Given the description of an element on the screen output the (x, y) to click on. 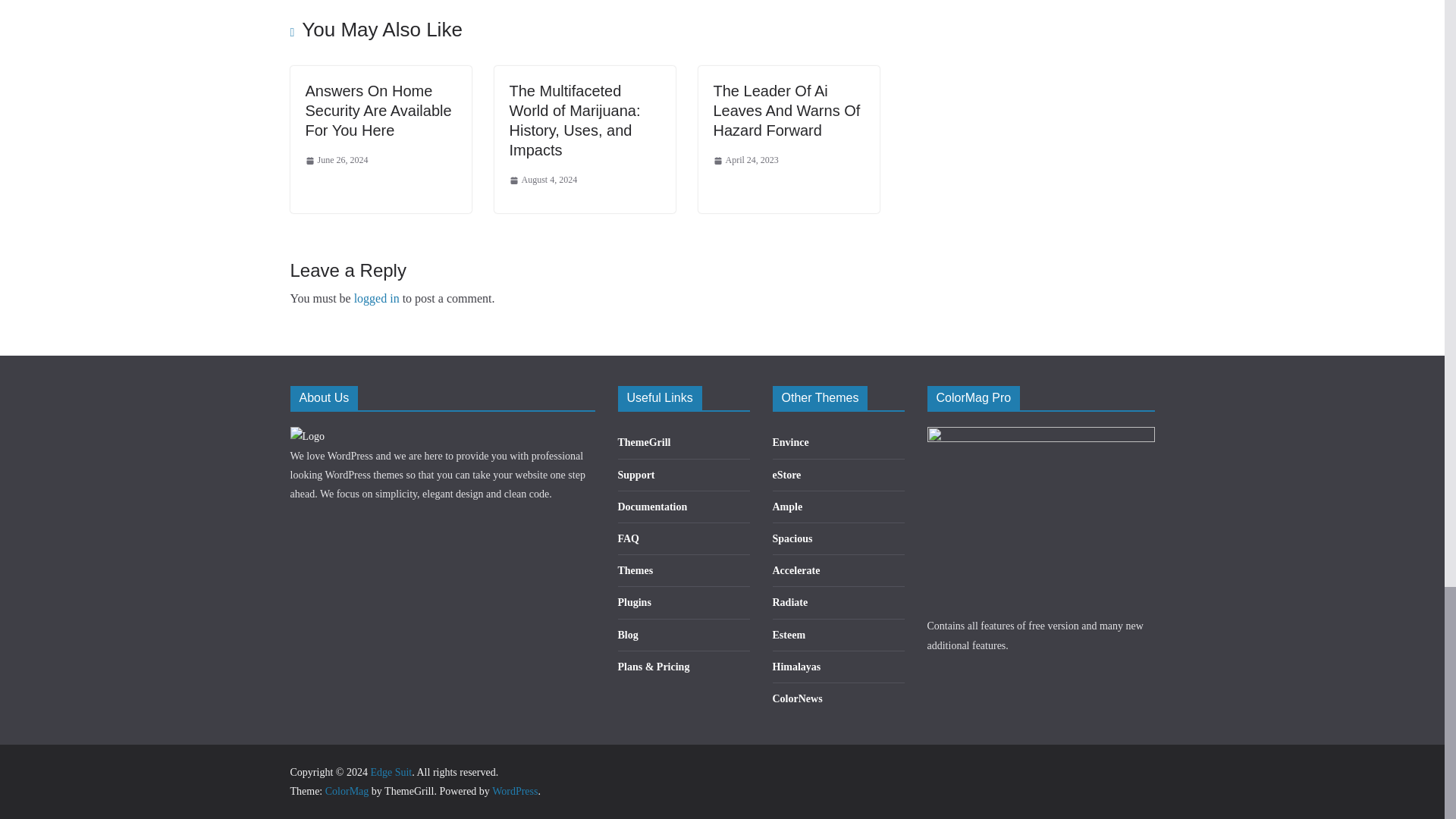
August 4, 2024 (543, 180)
Answers On Home Security Are Available For You Here (377, 110)
11:53 am (336, 160)
Answers On Home Security Are Available For You Here (377, 110)
logged in (375, 297)
June 26, 2024 (336, 160)
The Leader Of Ai Leaves And Warns Of Hazard Forward (786, 110)
April 24, 2023 (745, 160)
